Given the description of an element on the screen output the (x, y) to click on. 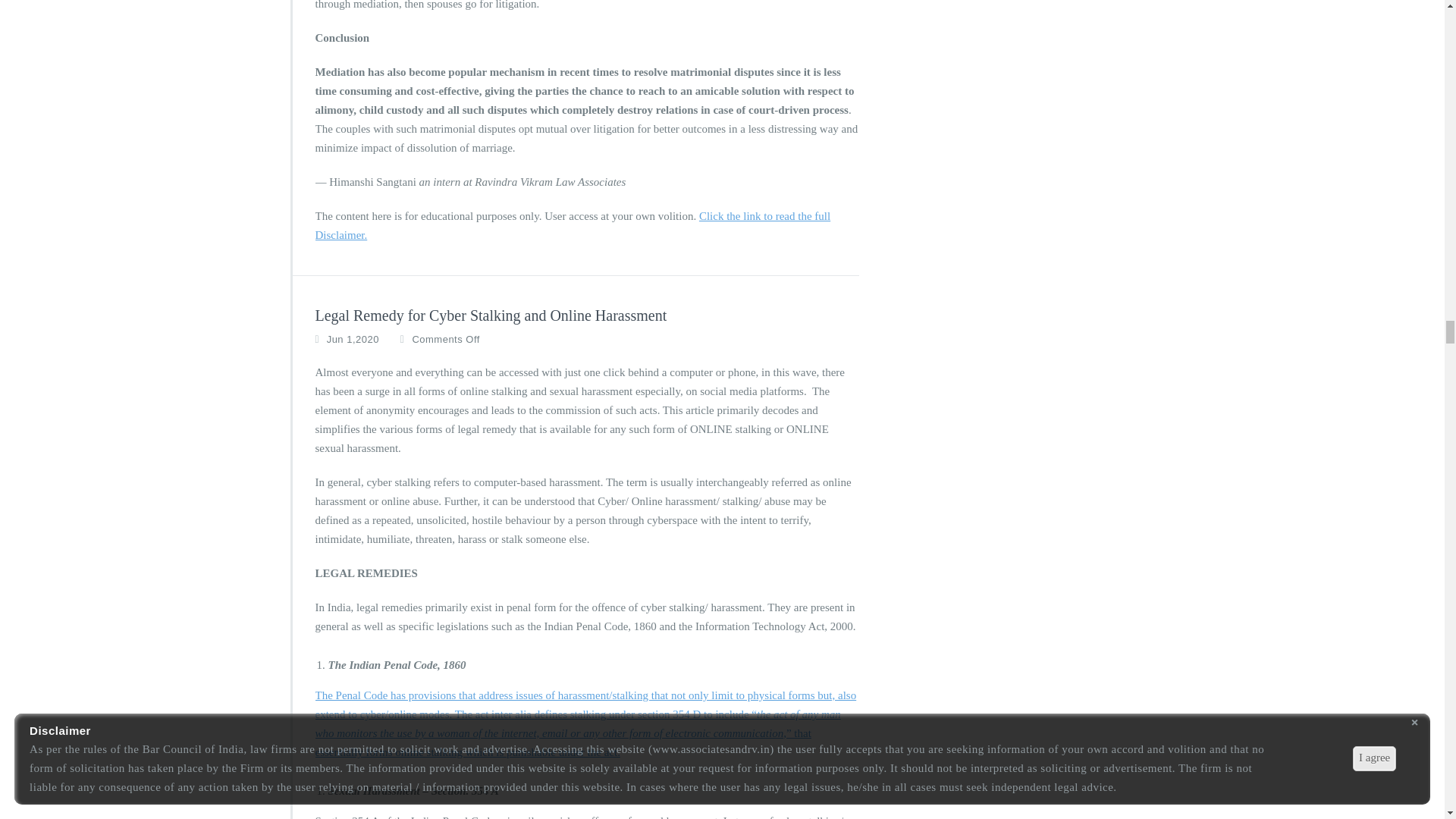
Legal Remedy for Cyber Stalking and Online Harassment (490, 315)
Click the link to read the full Disclaimer. (573, 224)
Jun 1,2020 (352, 339)
